Given the description of an element on the screen output the (x, y) to click on. 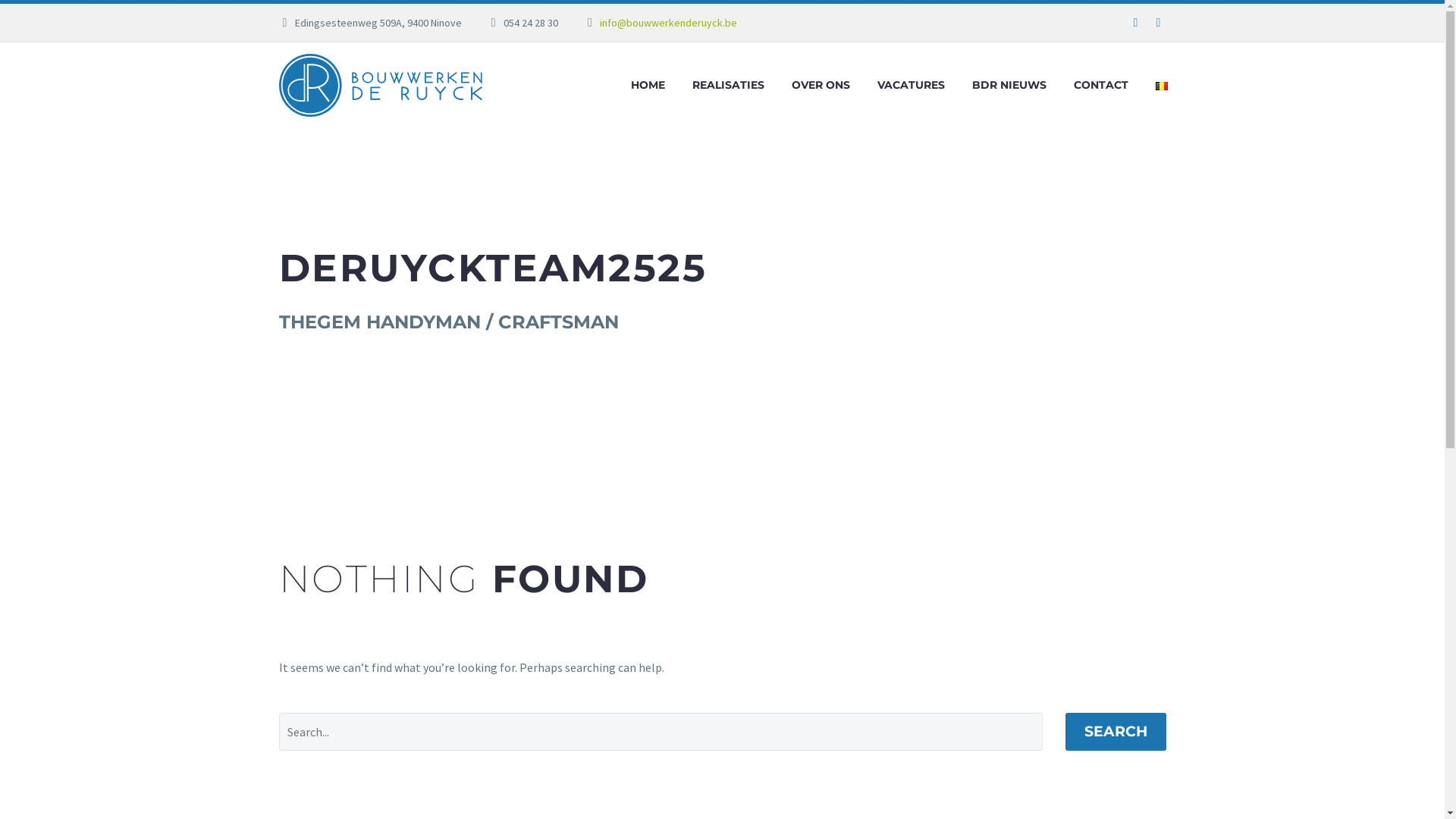
REALISATIES Element type: text (727, 84)
054 24 28 30 Element type: text (530, 22)
info@bouwwerkenderuyck.be Element type: text (668, 22)
OVER ONS Element type: text (819, 84)
Facebook Element type: hover (1134, 22)
HOME Element type: text (646, 84)
BDR NIEUWS Element type: text (1008, 84)
SEARCH Element type: text (1114, 731)
VACATURES Element type: text (911, 84)
CONTACT Element type: text (1100, 84)
LinkedIn Element type: hover (1157, 22)
